Given the description of an element on the screen output the (x, y) to click on. 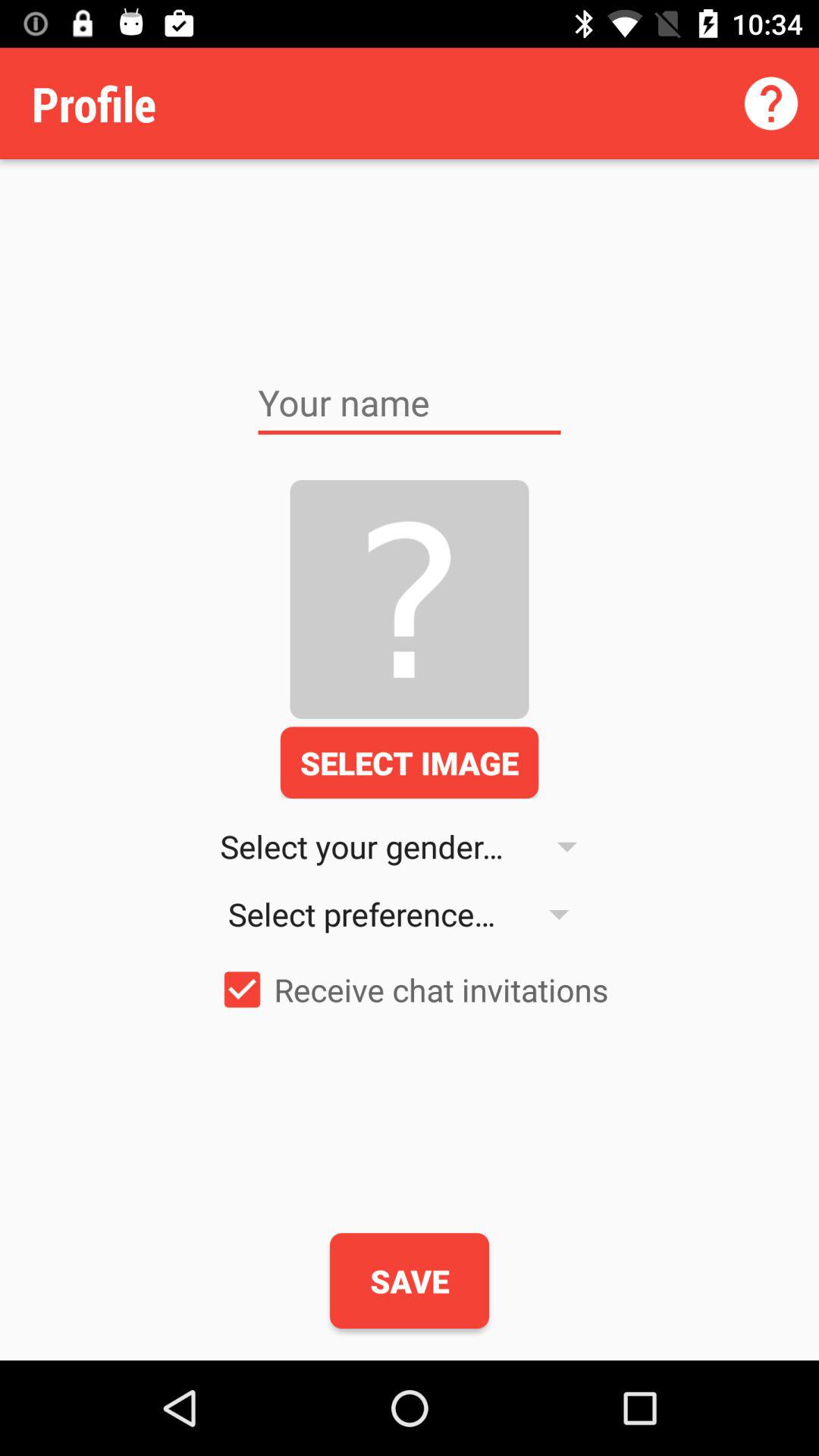
click item next to the profile (771, 103)
